Given the description of an element on the screen output the (x, y) to click on. 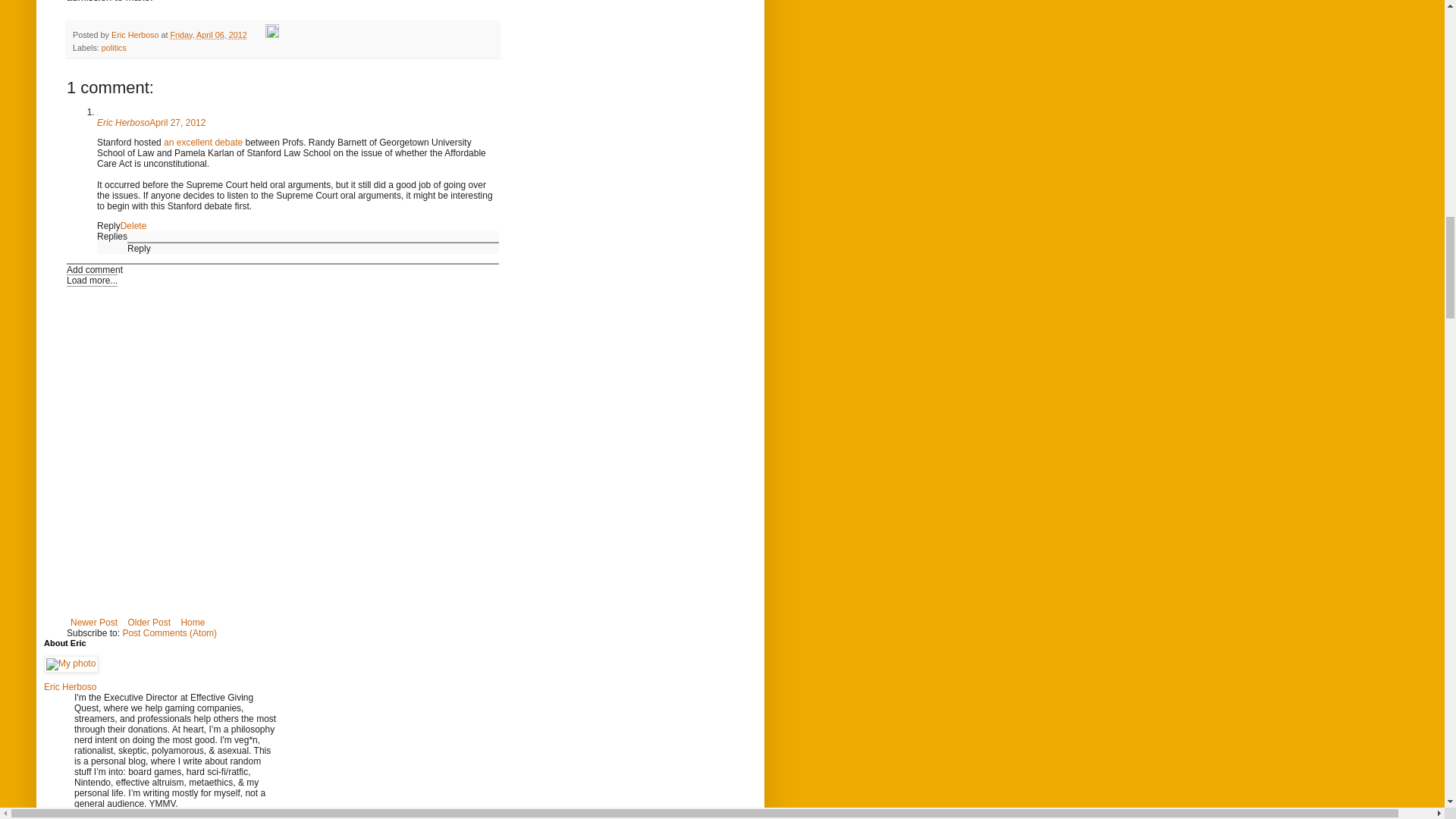
Add comment (94, 269)
Newer Post (93, 622)
April 27, 2012 (177, 122)
Eric Herboso (136, 34)
Eric Herboso (123, 122)
an excellent debate (203, 142)
Friday, April 06, 2012 (208, 34)
Home (192, 622)
Delete (133, 225)
Reply (139, 248)
author profile (136, 34)
Eric Herboso (69, 686)
politics (113, 47)
Load more... (91, 280)
